Given the description of an element on the screen output the (x, y) to click on. 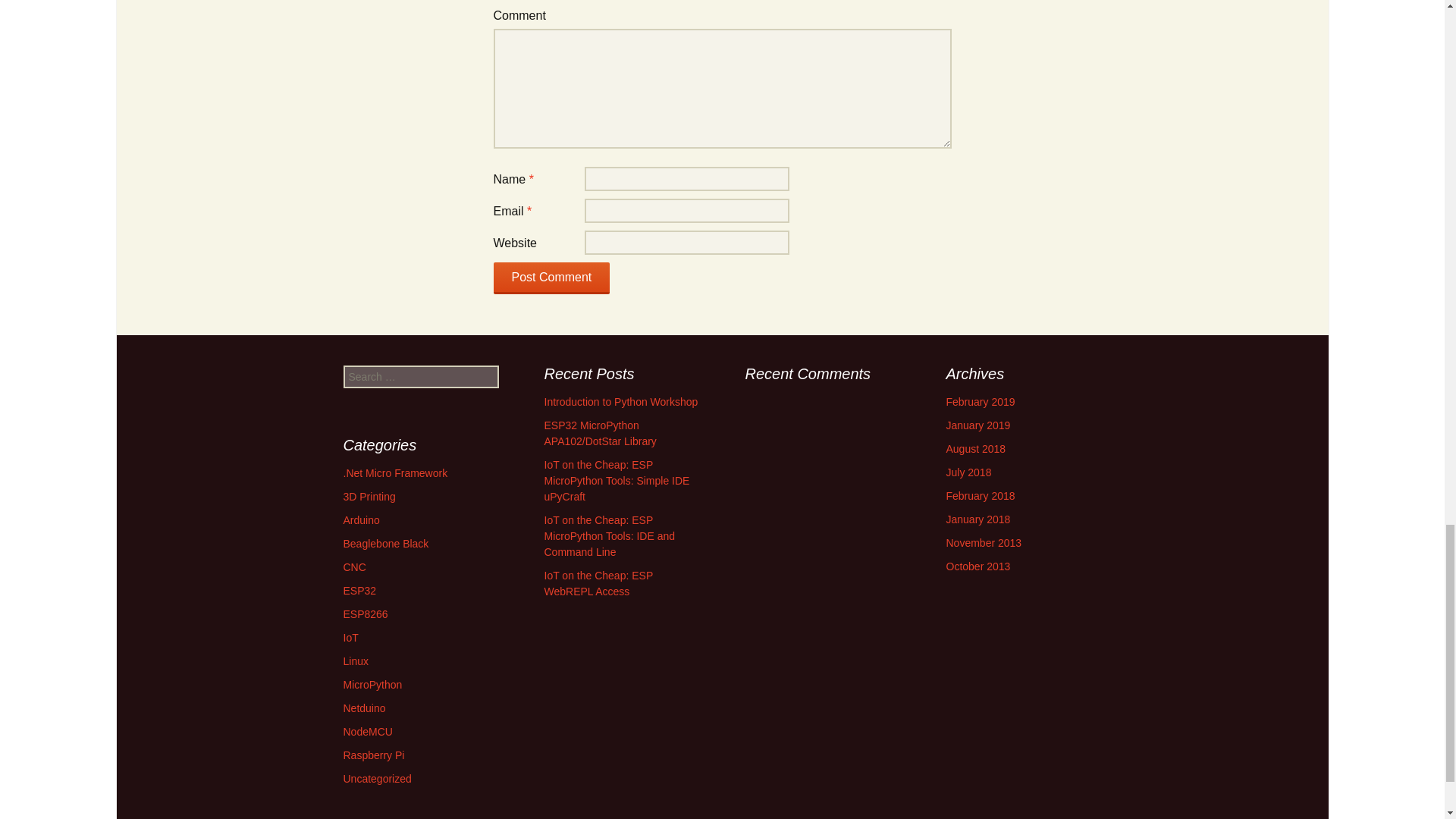
Post Comment (551, 278)
IoT on the Cheap: ESP WebREPL Access (598, 583)
IoT on the Cheap: ESP MicroPython Tools: Simple IDE uPyCraft (617, 480)
January 2019 (978, 425)
Introduction to Python Workshop (621, 401)
Post Comment (551, 278)
August 2018 (976, 449)
February 2019 (980, 401)
